Given the description of an element on the screen output the (x, y) to click on. 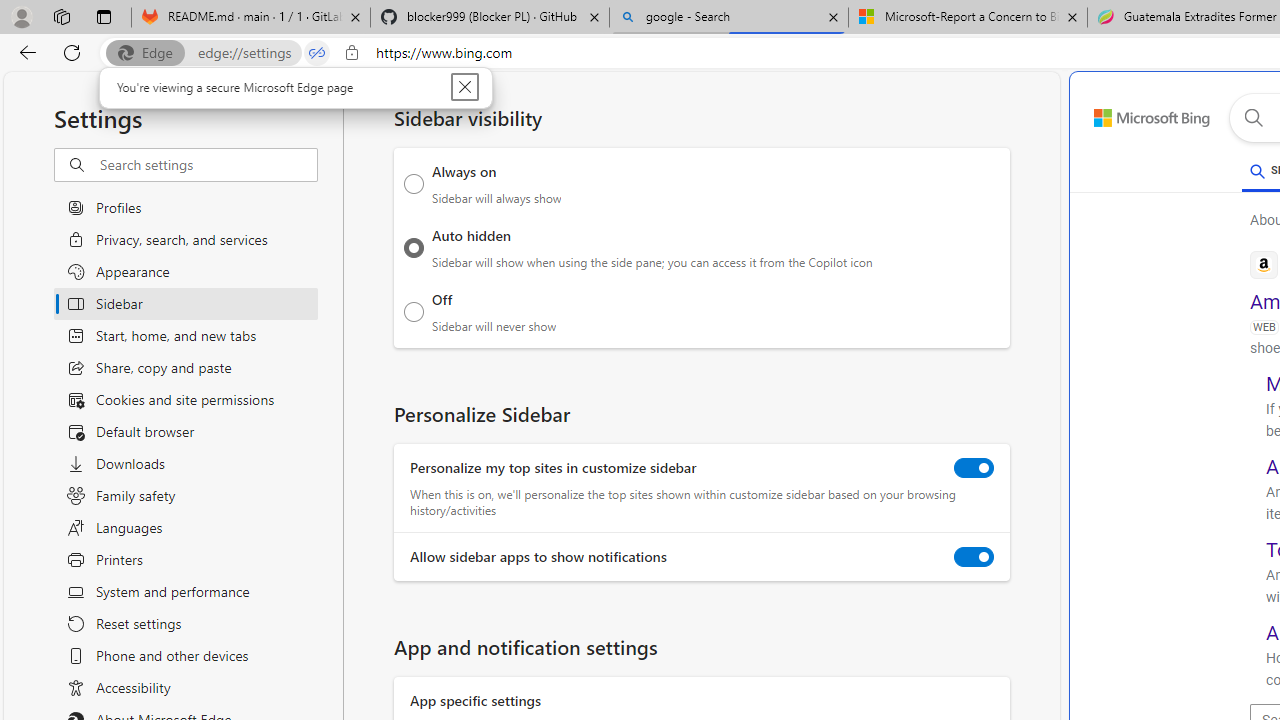
Off Sidebar will never show (413, 311)
Back to Bing search (1139, 113)
Search settings (207, 165)
